Given the description of an element on the screen output the (x, y) to click on. 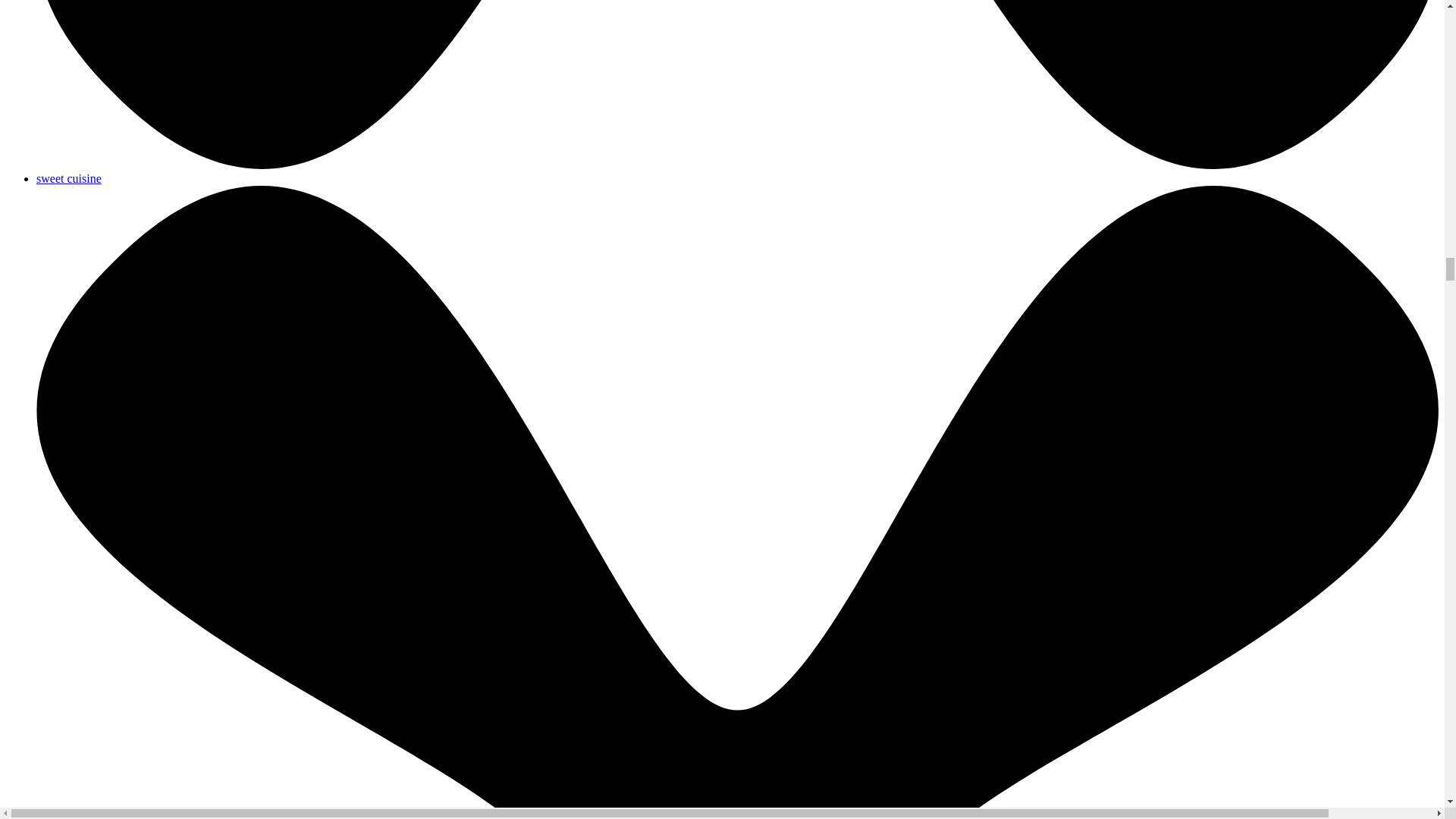
sweet cuisine (68, 178)
